Given the description of an element on the screen output the (x, y) to click on. 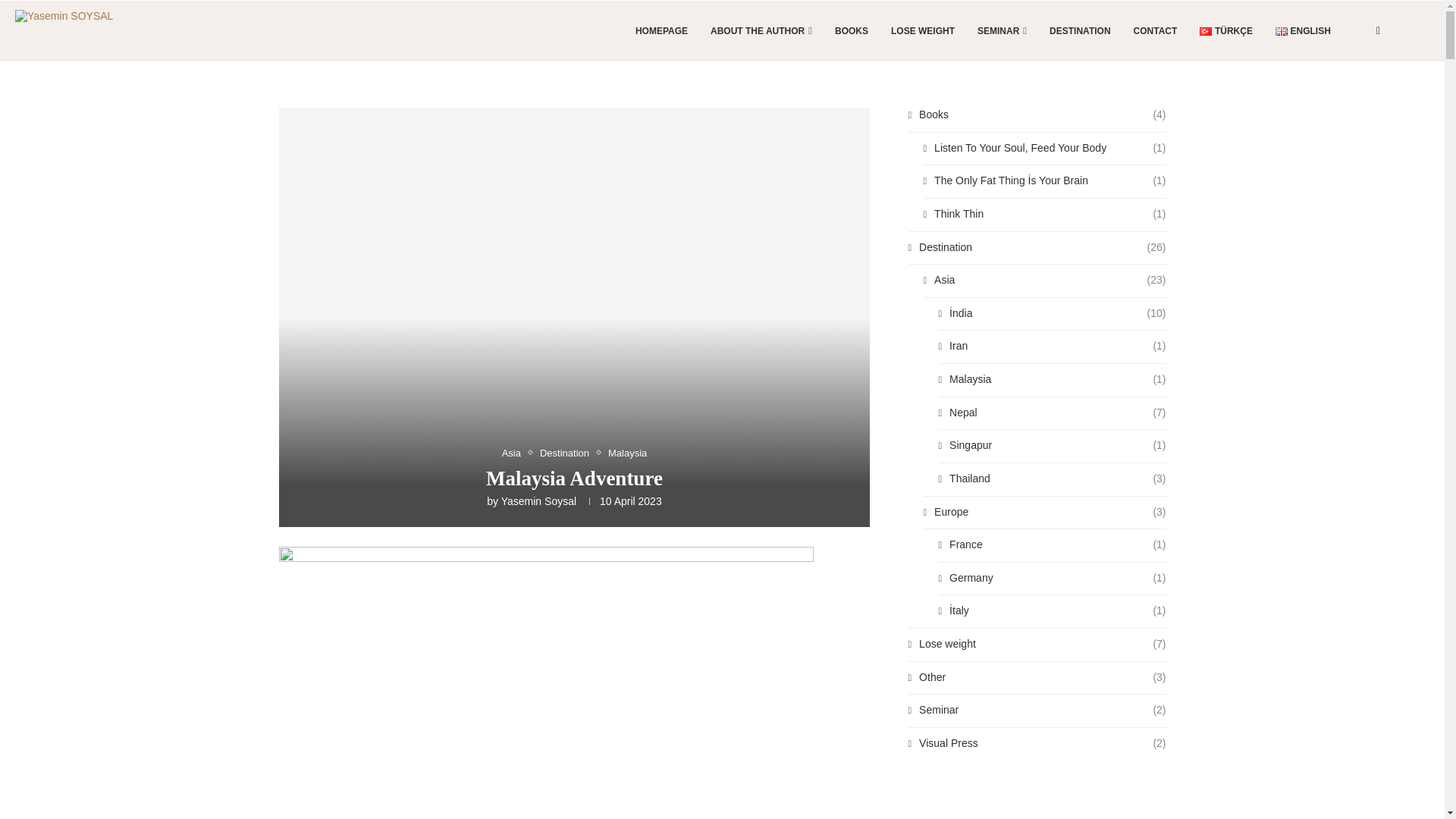
LOSE WEIGHT (923, 30)
Asia (515, 453)
Yasemin Soysal (538, 500)
ABOUT THE AUTHOR (761, 30)
Destination (568, 453)
Malaysia (627, 453)
ENGLISH (1302, 30)
DESTINATION (1079, 30)
